Given the description of an element on the screen output the (x, y) to click on. 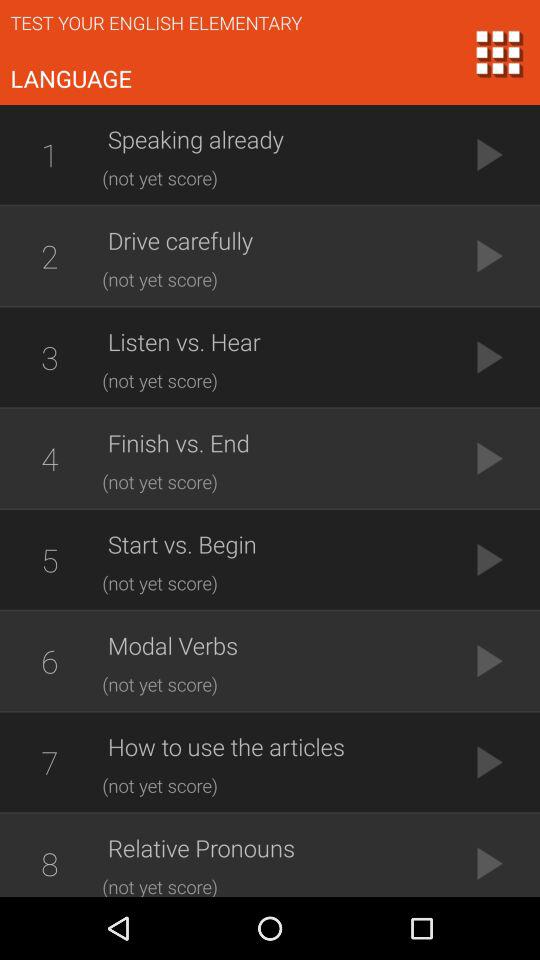
choose icon next to  speaking already app (49, 154)
